Given the description of an element on the screen output the (x, y) to click on. 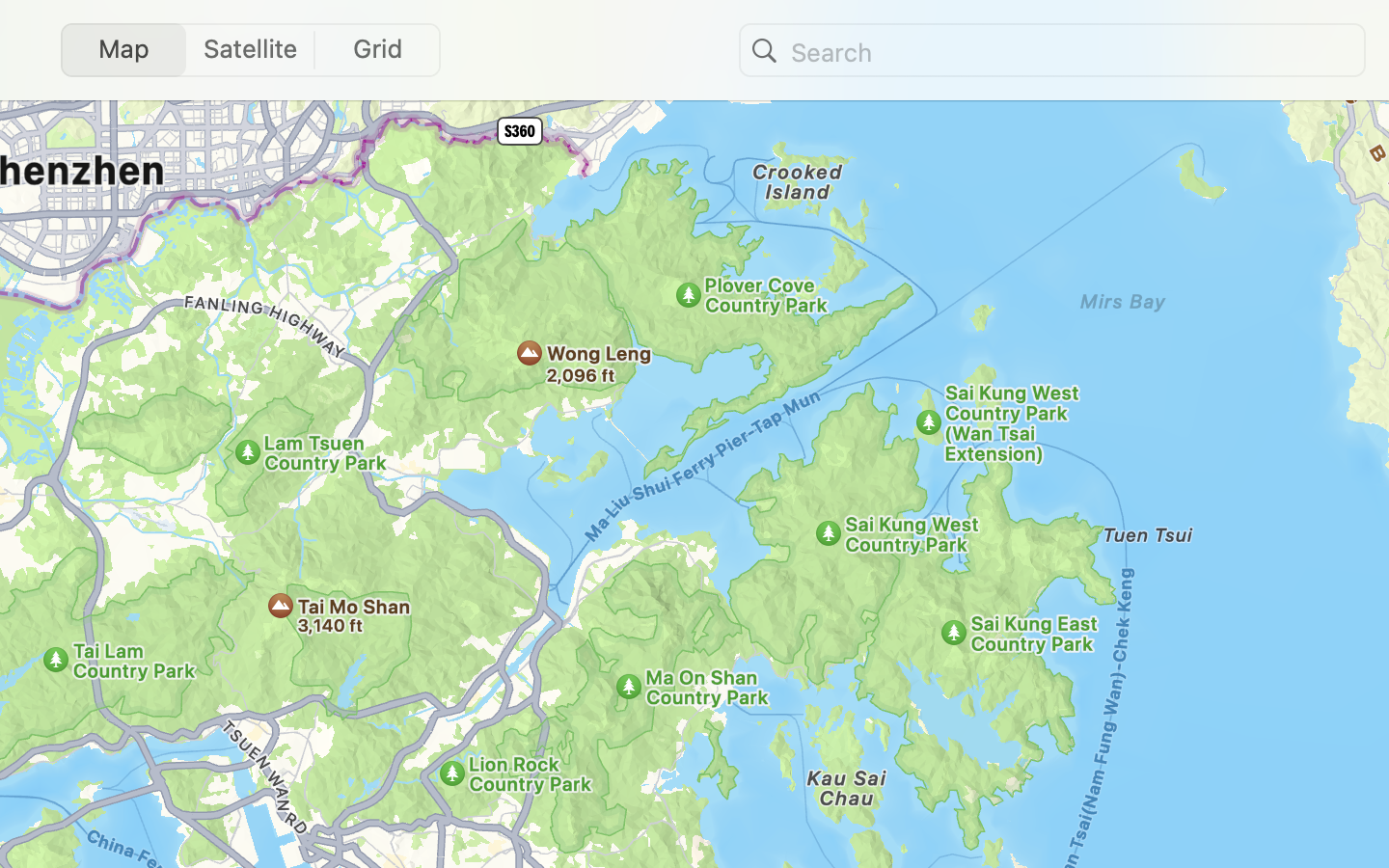
0 Element type: AXRadioButton (382, 49)
<AXUIElement 0x11dac76f0> {pid=1091} Element type: AXRadioGroup (249, 49)
1 Element type: AXRadioButton (117, 49)
